Given the description of an element on the screen output the (x, y) to click on. 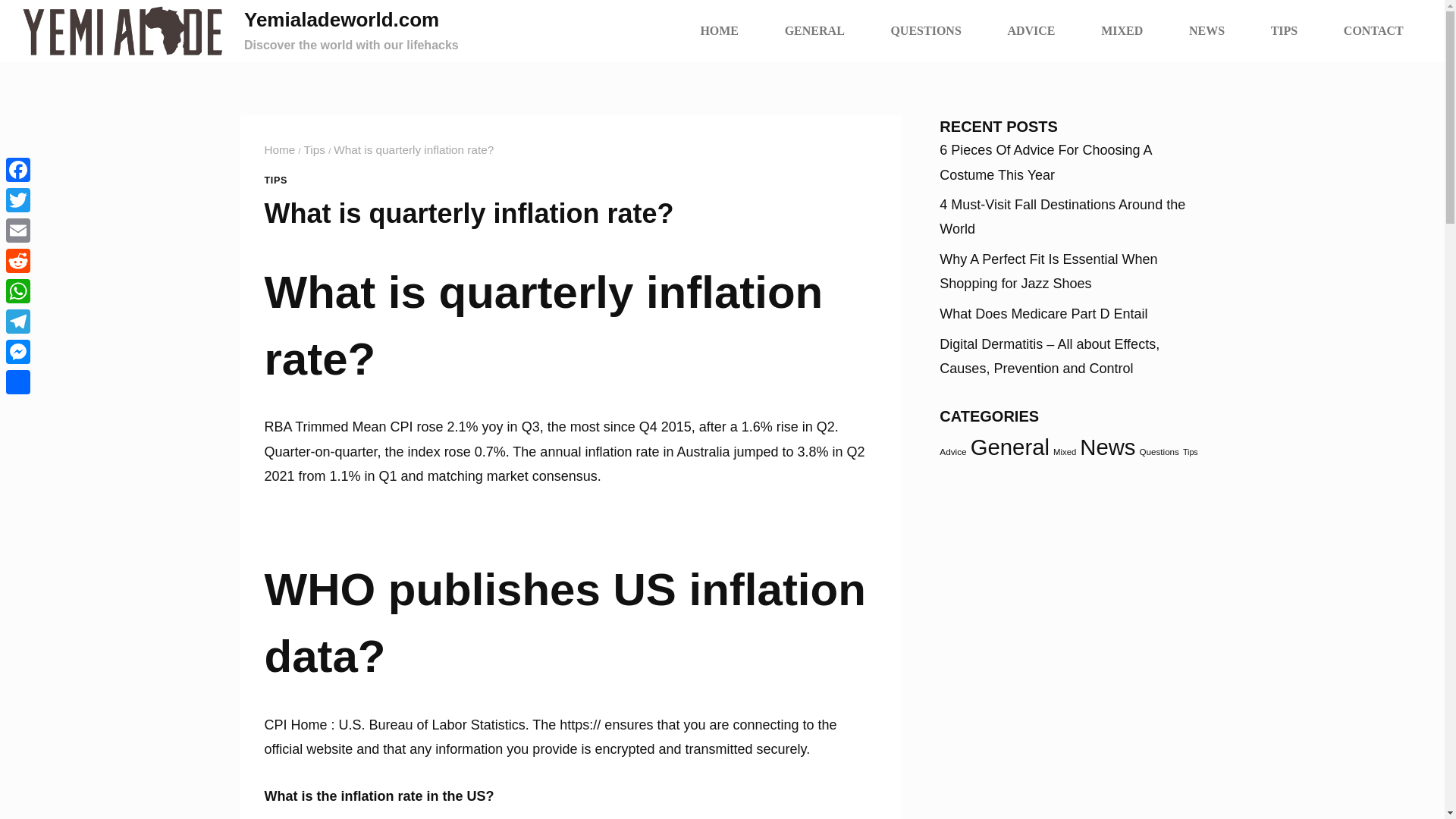
Advice (952, 451)
TIPS (1283, 30)
What Does Medicare Part D Entail (1043, 313)
Facebook (17, 169)
6 Pieces Of Advice For Choosing A Costume This Year (1045, 161)
Facebook (17, 169)
Tips (314, 149)
MIXED (1122, 30)
Home (279, 149)
GENERAL (814, 30)
General (1010, 446)
Twitter (17, 200)
HOME (719, 30)
TIPS (274, 180)
Why A Perfect Fit Is Essential When Shopping for Jazz Shoes (1048, 271)
